Given the description of an element on the screen output the (x, y) to click on. 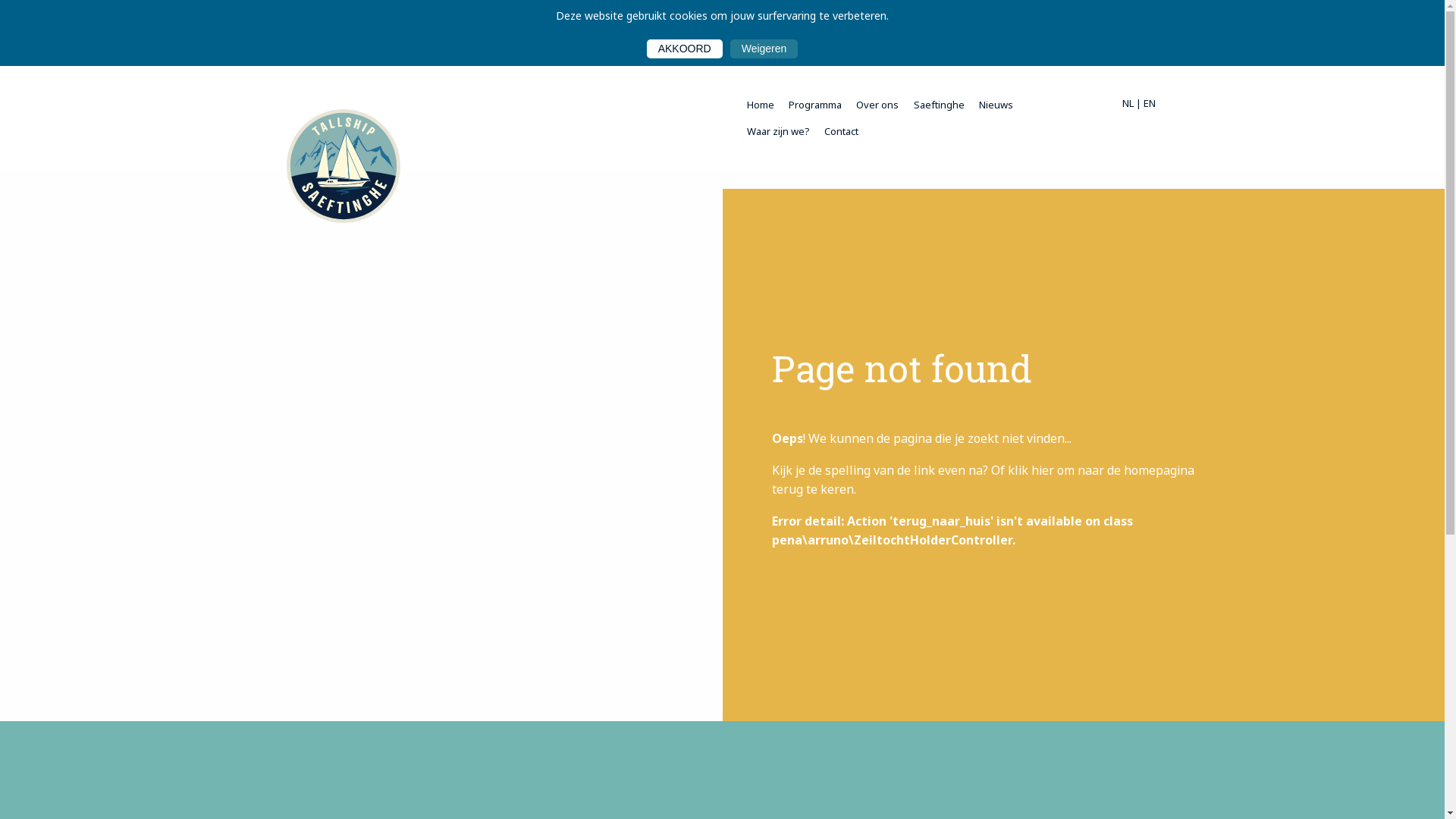
NL Element type: text (1127, 102)
Programma Element type: text (815, 104)
Waar zijn we? Element type: text (777, 131)
Weigeren Element type: text (764, 48)
Over ons Element type: text (877, 104)
Nieuws Element type: text (995, 104)
hier Element type: text (1042, 470)
Home Element type: text (760, 104)
Contact Element type: text (841, 131)
EN Element type: text (1149, 102)
Saeftinghe Element type: text (938, 104)
AKKOORD Element type: text (684, 48)
